Given the description of an element on the screen output the (x, y) to click on. 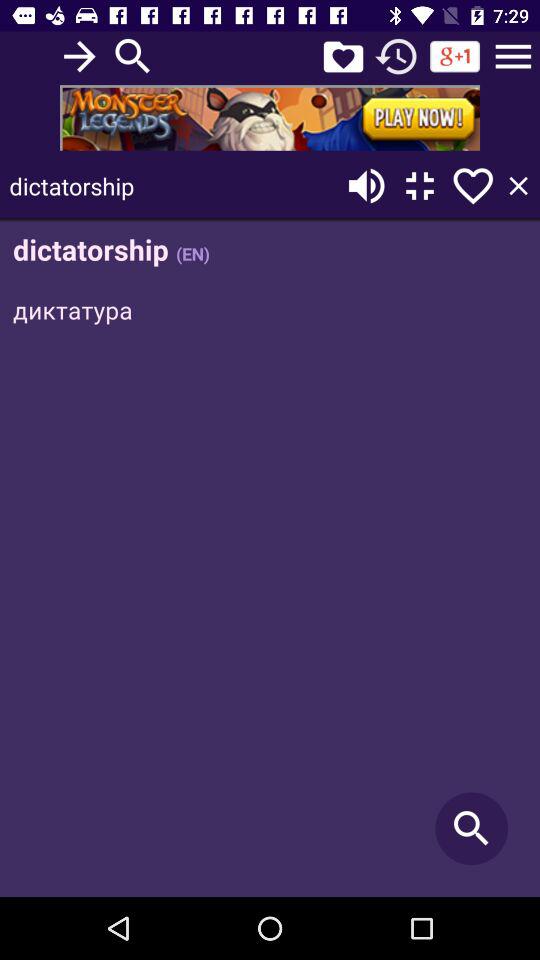
toggle advertisement option (270, 117)
